Given the description of an element on the screen output the (x, y) to click on. 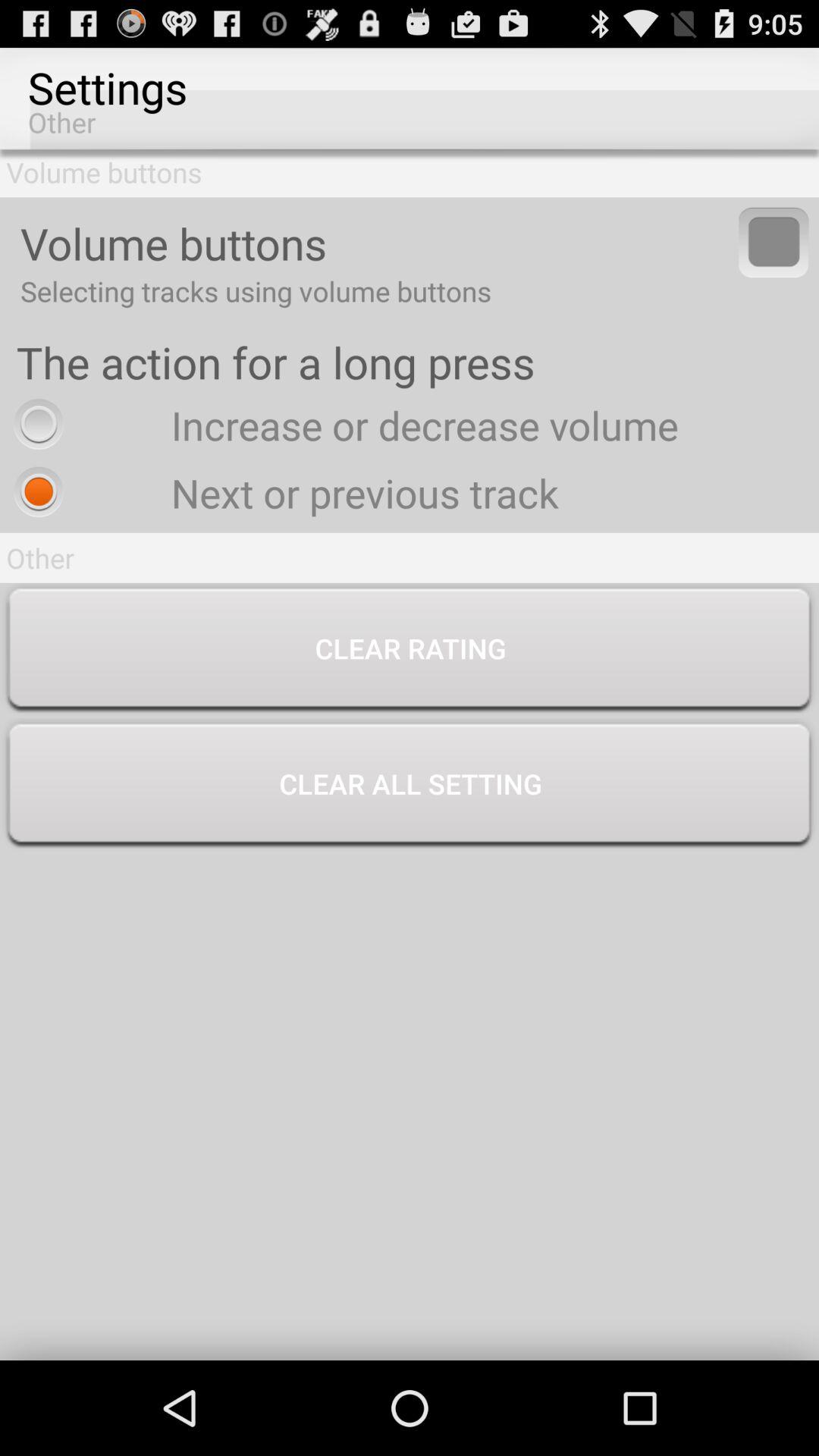
open icon below the increase or decrease icon (282, 492)
